Given the description of an element on the screen output the (x, y) to click on. 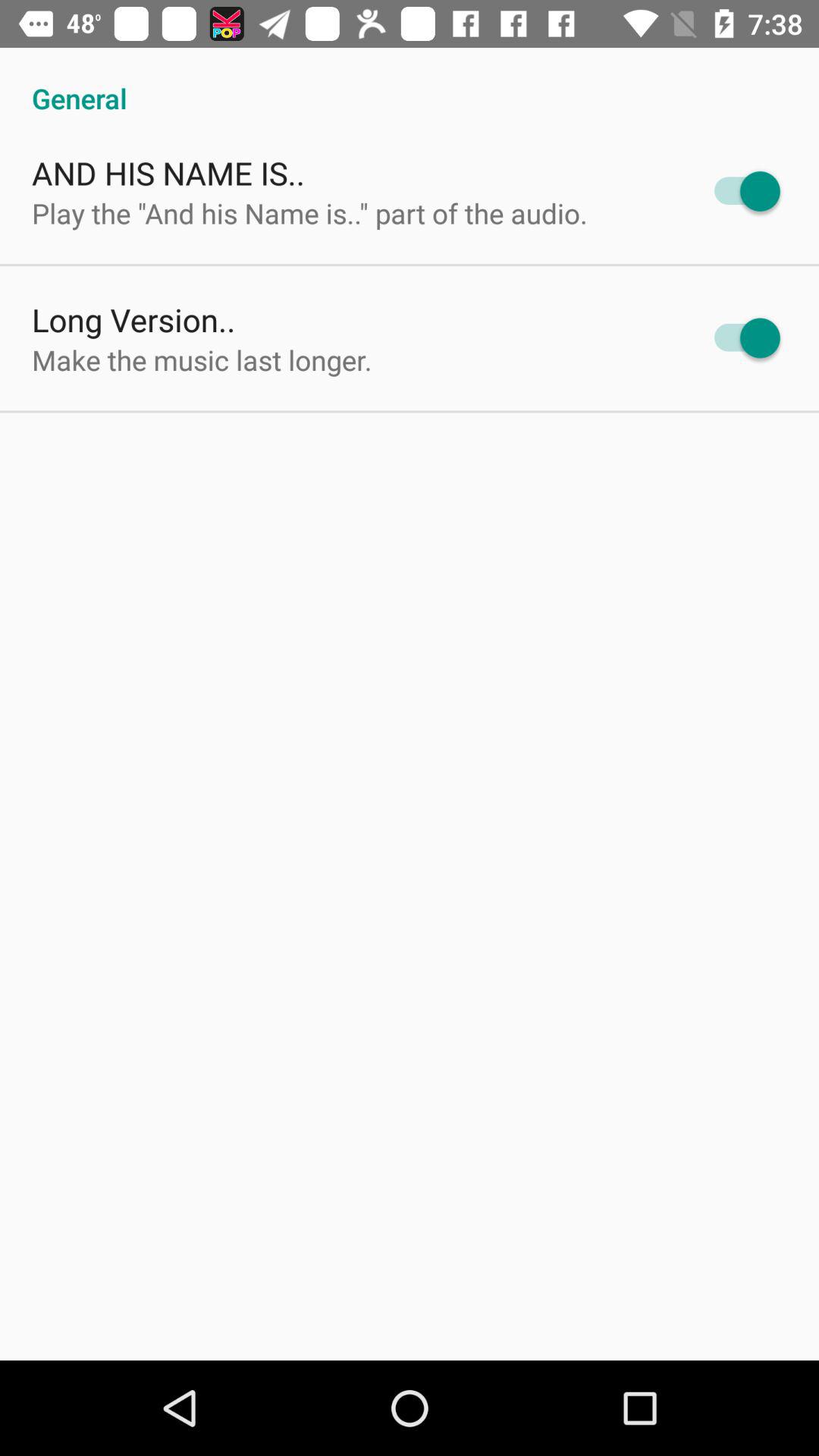
choose general item (409, 82)
